Given the description of an element on the screen output the (x, y) to click on. 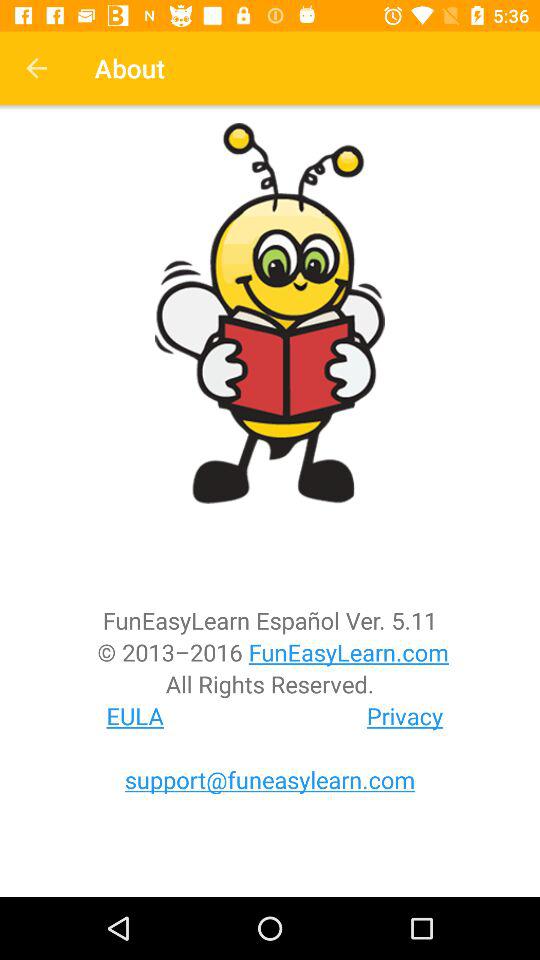
choose the item next to the privacy (135, 715)
